Given the description of an element on the screen output the (x, y) to click on. 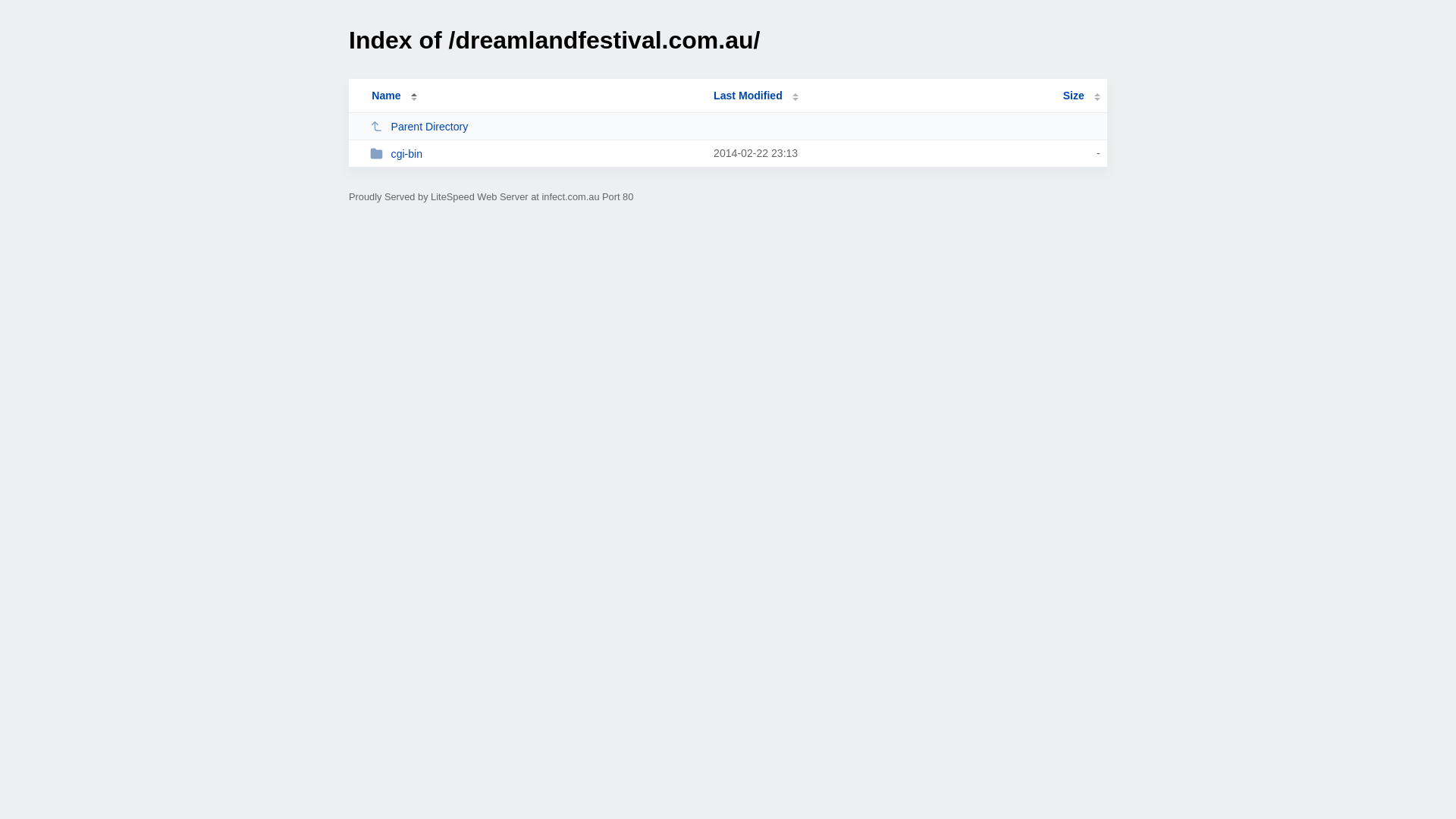
Name Element type: text (385, 95)
Last Modified Element type: text (755, 95)
Parent Directory Element type: text (534, 125)
Size Element type: text (1081, 95)
cgi-bin Element type: text (534, 153)
